Given the description of an element on the screen output the (x, y) to click on. 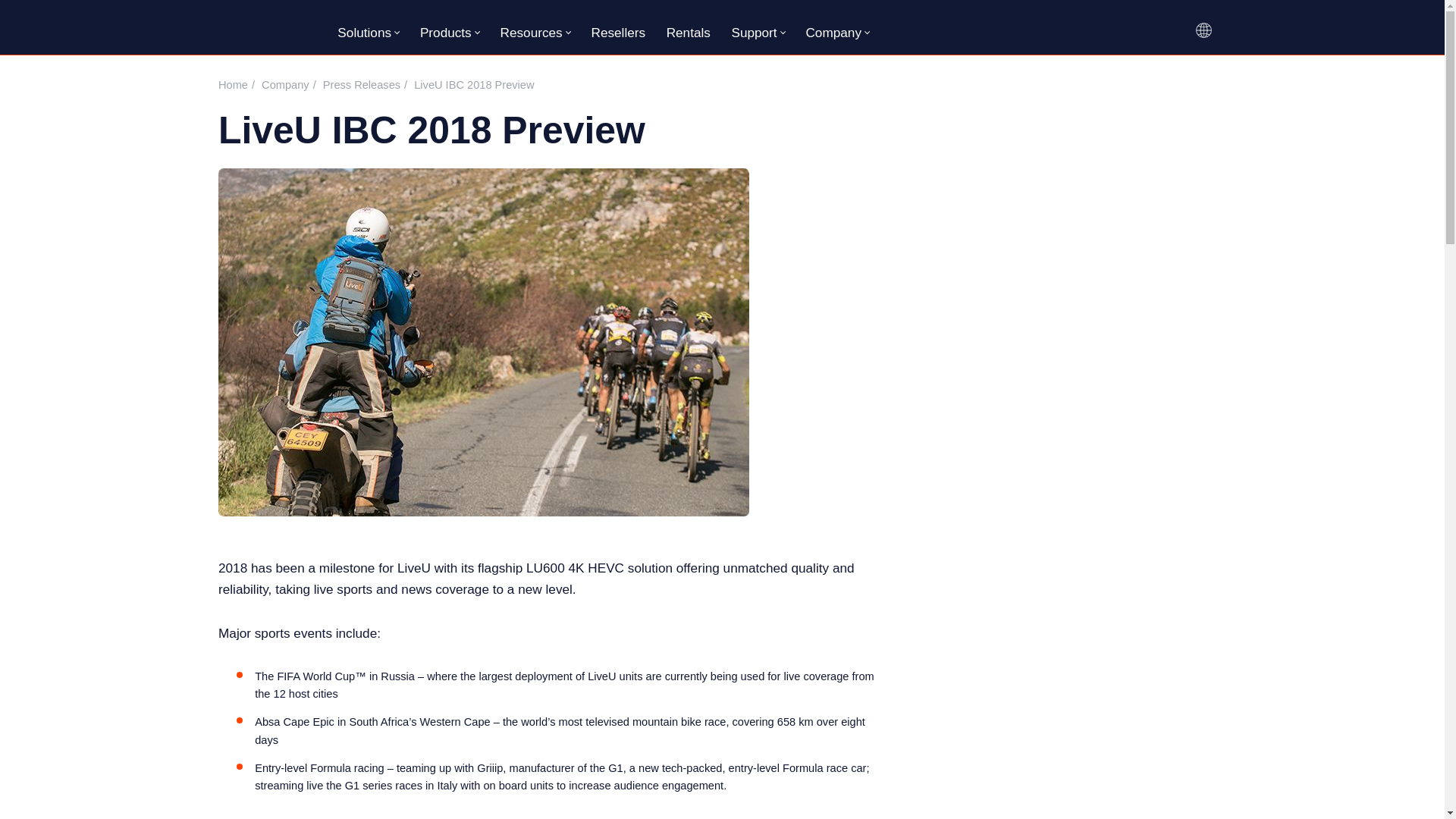
Resources (535, 32)
Resources (531, 32)
Products (445, 32)
Solutions (364, 32)
Solutions (368, 32)
Products (449, 32)
